Given the description of an element on the screen output the (x, y) to click on. 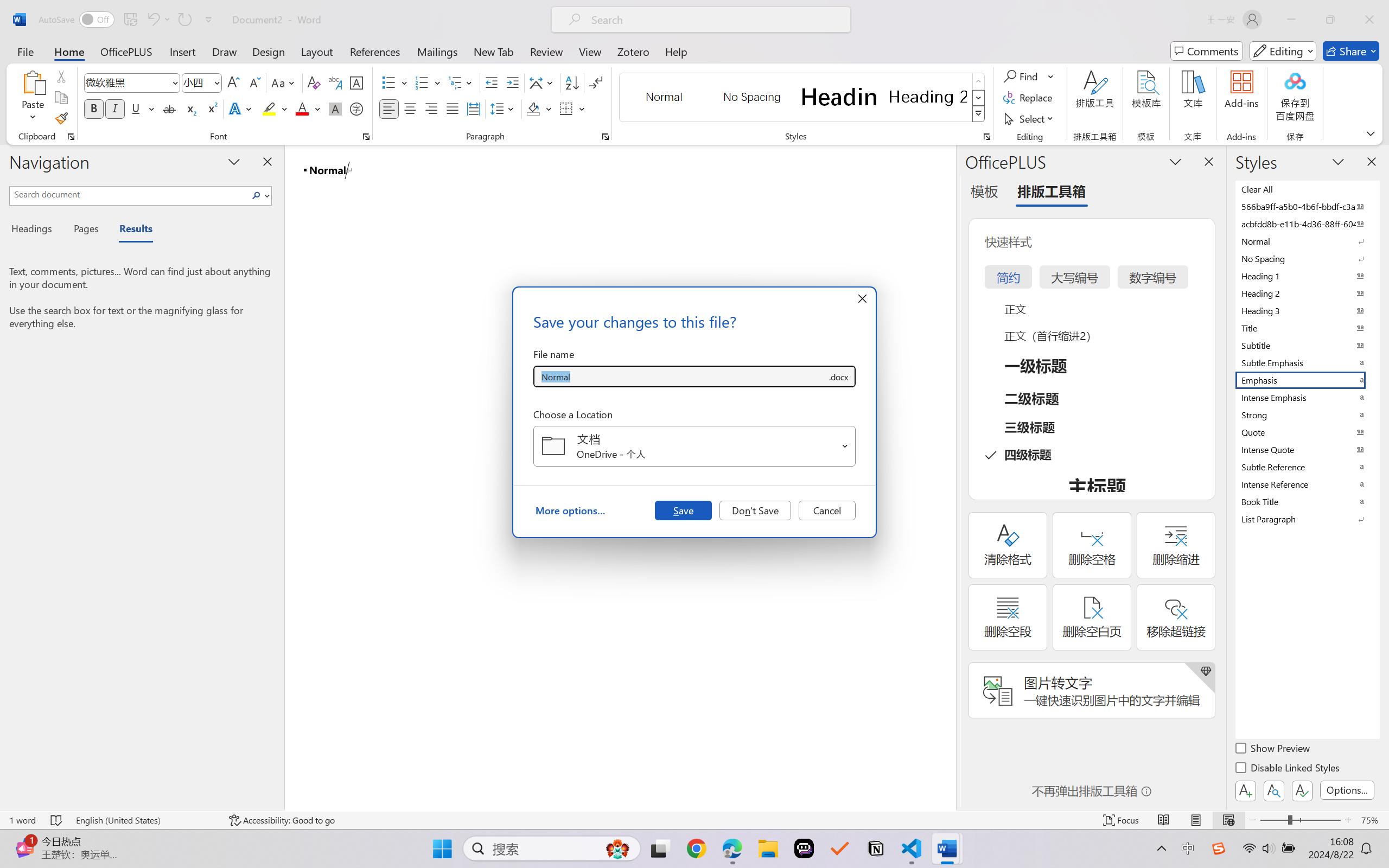
Mode (1283, 50)
Focus  (1121, 819)
Class: Image (1218, 847)
Styles... (986, 136)
Quote (1306, 431)
Show Preview (1273, 749)
OfficePLUS (126, 51)
Intense Emphasis (1306, 397)
Close (1369, 19)
Undo Style (152, 19)
Don't Save (755, 509)
